Given the description of an element on the screen output the (x, y) to click on. 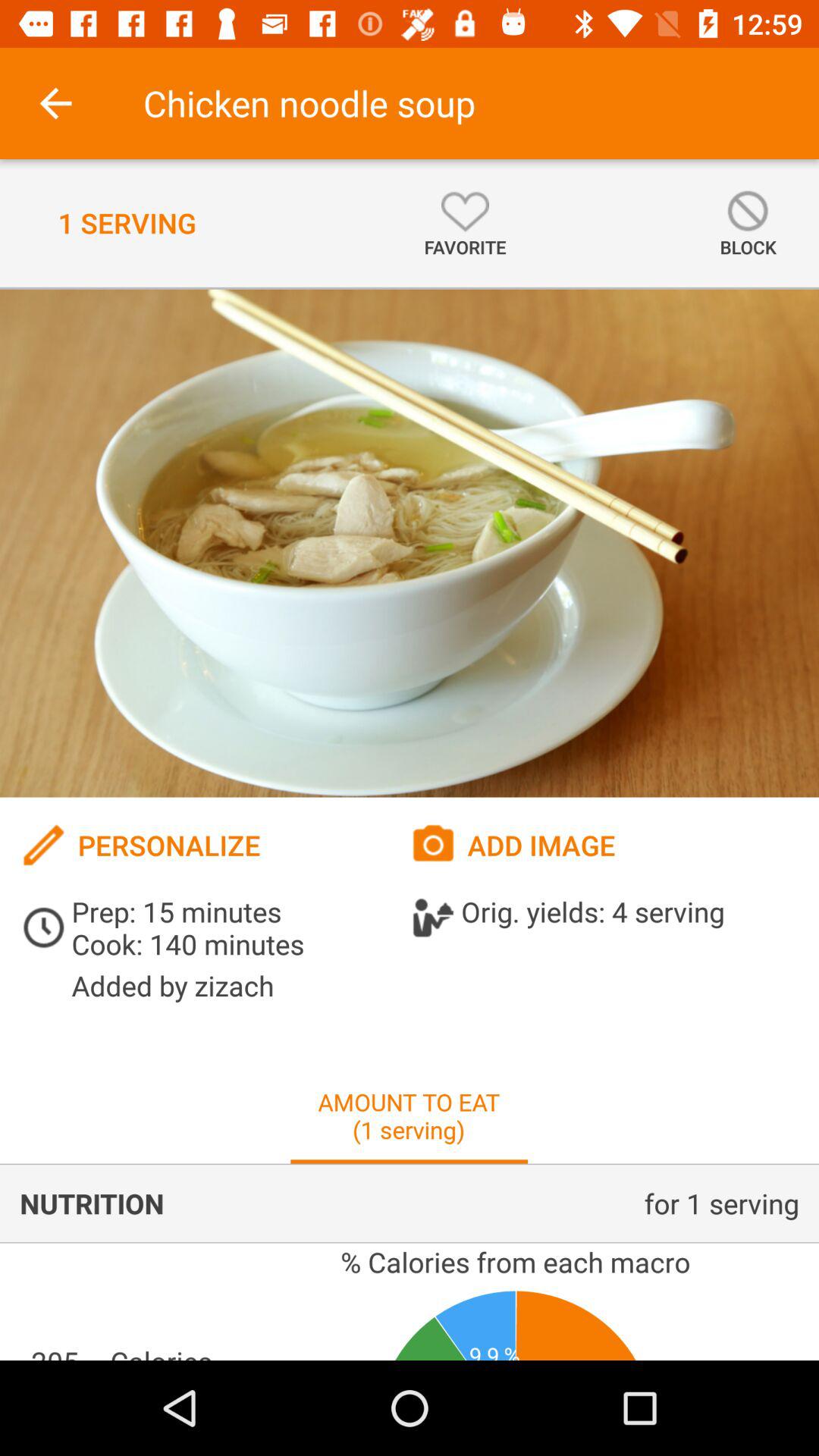
press item next to 1 serving item (464, 223)
